Given the description of an element on the screen output the (x, y) to click on. 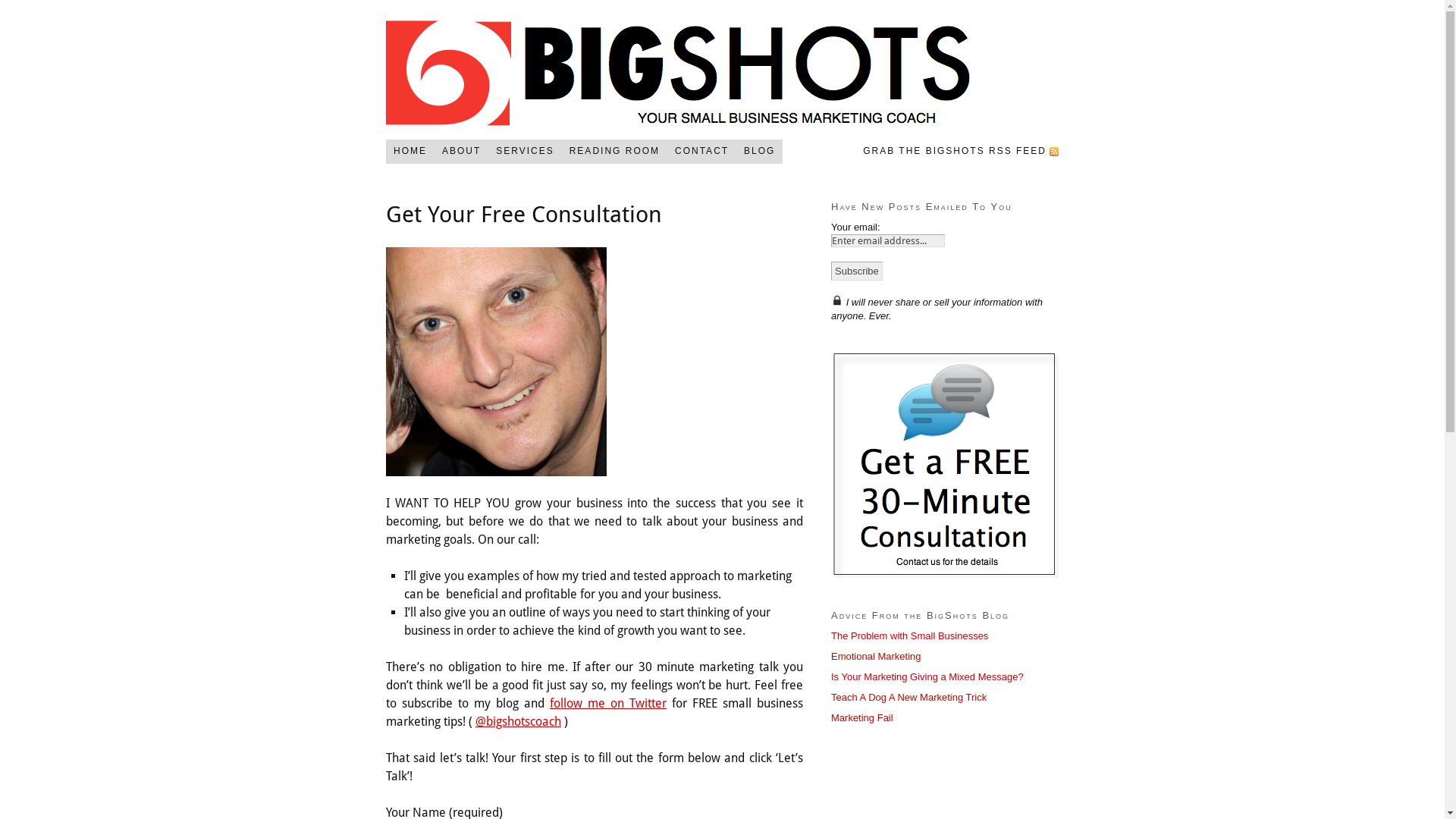
boullata-social Element type: hover (495, 361)
Marketing Fail Element type: text (862, 717)
GRAB THE BIGSHOTS RSS FEED Element type: text (956, 151)
Teach A Dog A New Marketing Trick Element type: text (908, 696)
follow me on Twitter Element type: text (607, 703)
BLOG Element type: text (759, 151)
CONTACT Element type: text (701, 151)
Free Small Business Marketing Consultation Element type: hover (944, 463)
Free Small Business Marketing Consultation Element type: hover (837, 299)
SERVICES Element type: text (524, 151)
Subscribe Element type: text (856, 270)
HOME Element type: text (409, 151)
ABOUT Element type: text (461, 151)
@bigshotscoach Element type: text (518, 721)
The Problem with Small Businesses Element type: text (909, 635)
READING ROOM Element type: text (614, 151)
Emotional Marketing Element type: text (876, 656)
Is Your Marketing Giving a Mixed Message? Element type: text (927, 676)
